Given the description of an element on the screen output the (x, y) to click on. 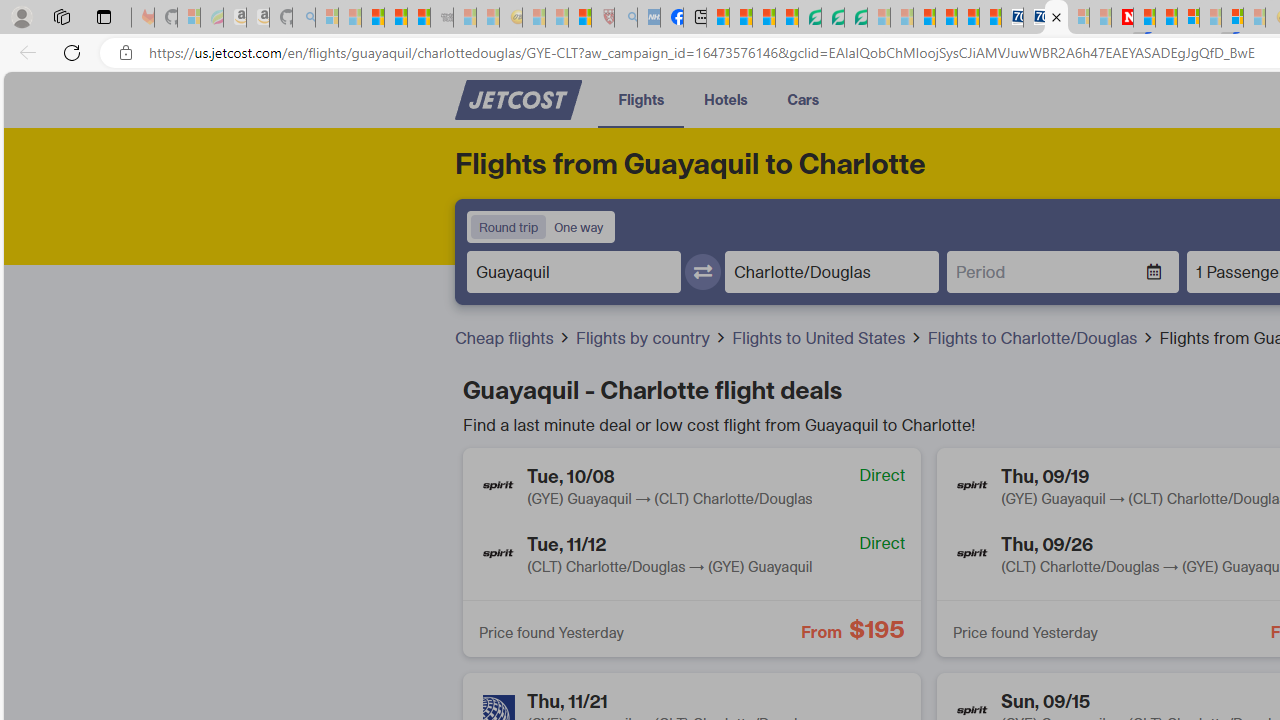
Tab actions menu (104, 16)
Flights to Charlotte/Douglas (1033, 337)
Cars (802, 98)
Microsoft account | Privacy - Sleeping (1078, 17)
Hotels (725, 98)
Cheap flights (513, 337)
list of asthma inhalers uk - Search - Sleeping (625, 17)
Period (1046, 271)
The Weather Channel - MSN (372, 17)
Robert H. Shmerling, MD - Harvard Health - Sleeping (602, 17)
Microsoft Start - Sleeping (1100, 17)
